Given the description of an element on the screen output the (x, y) to click on. 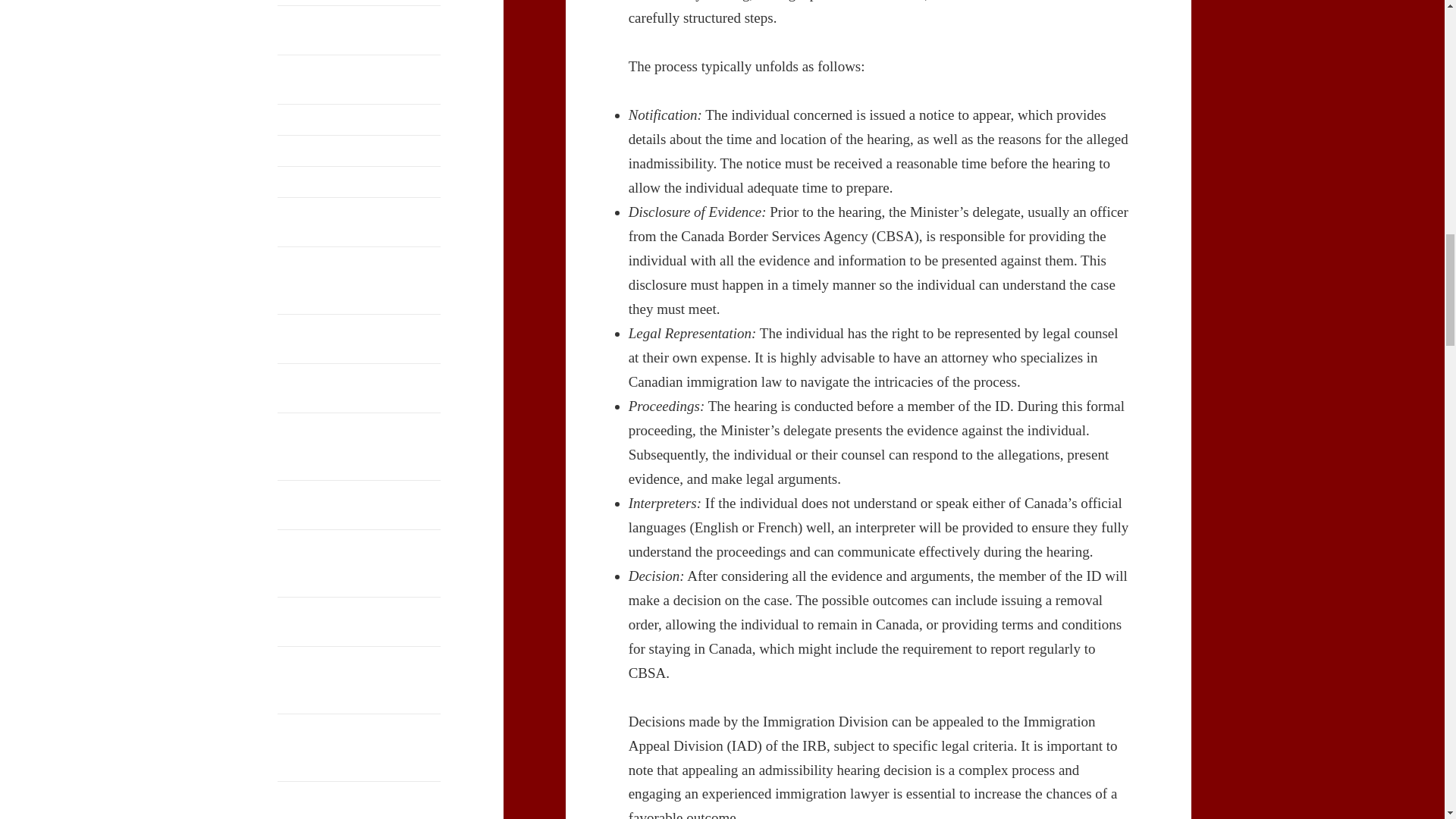
Humanitarian and Compassionate Applications (359, 387)
Humanitarian and Compassionate Appeals (359, 338)
Gender-Based Asylum Claims (359, 119)
Hardship and Risk Assessments (359, 182)
Financial Hardship Considerations (359, 79)
Humanitarian and Compassionate Administrative Reviews (359, 280)
Health and Medical Care Considerations (359, 222)
